Given the description of an element on the screen output the (x, y) to click on. 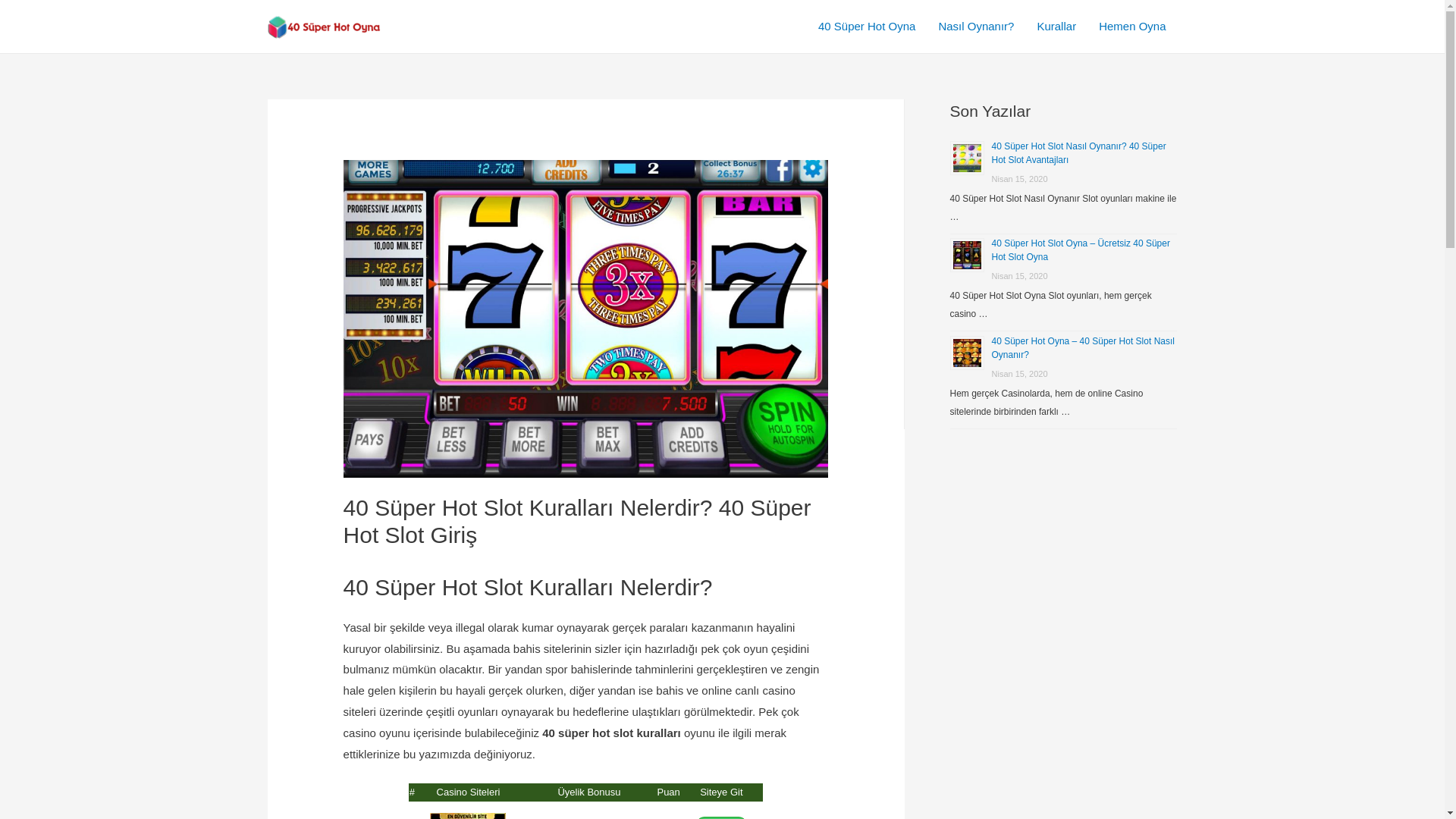
Hemen Oyna Element type: text (1131, 26)
Kurallar Element type: text (1056, 26)
